Given the description of an element on the screen output the (x, y) to click on. 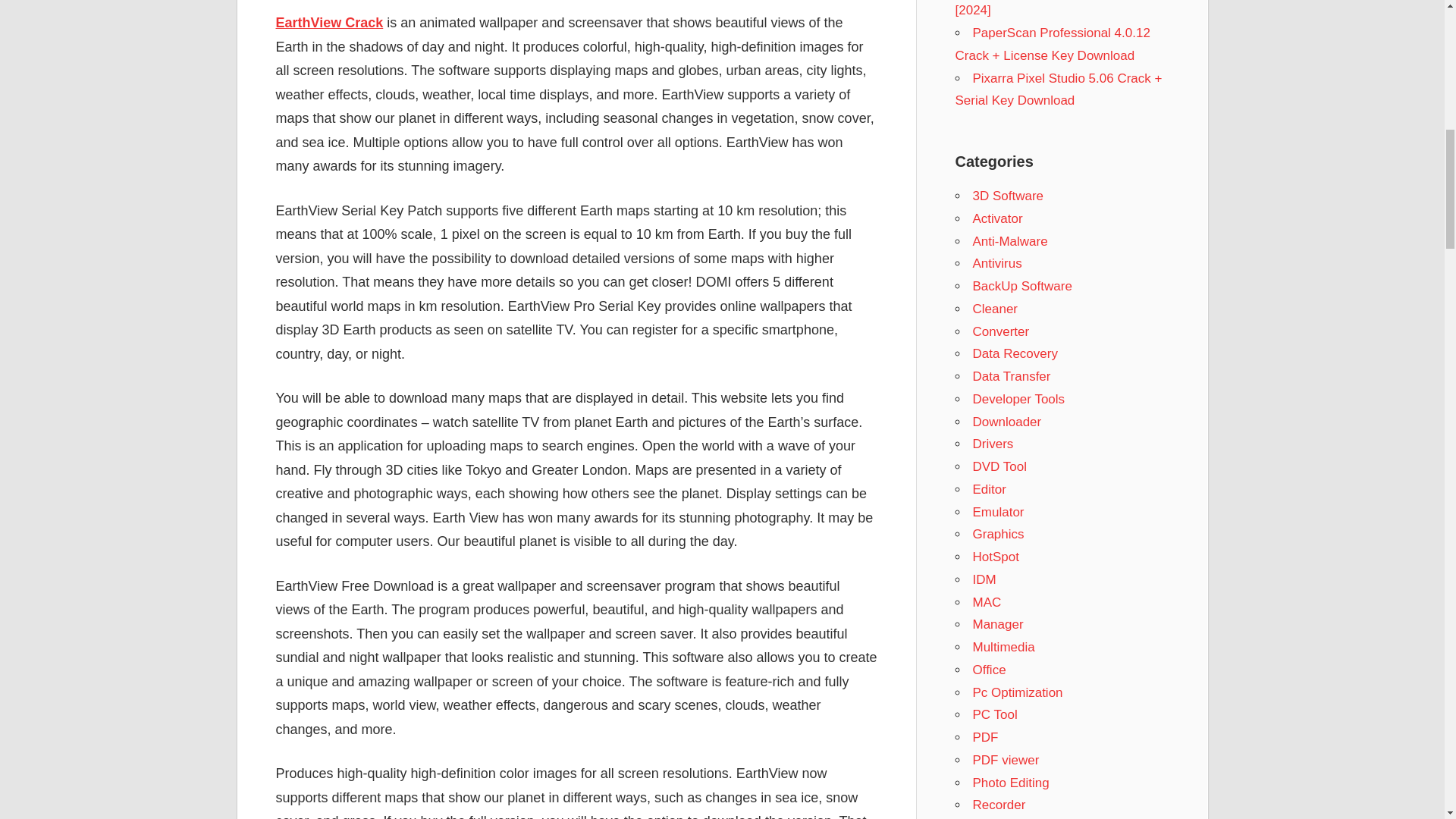
EarthView Crack (330, 22)
